Given the description of an element on the screen output the (x, y) to click on. 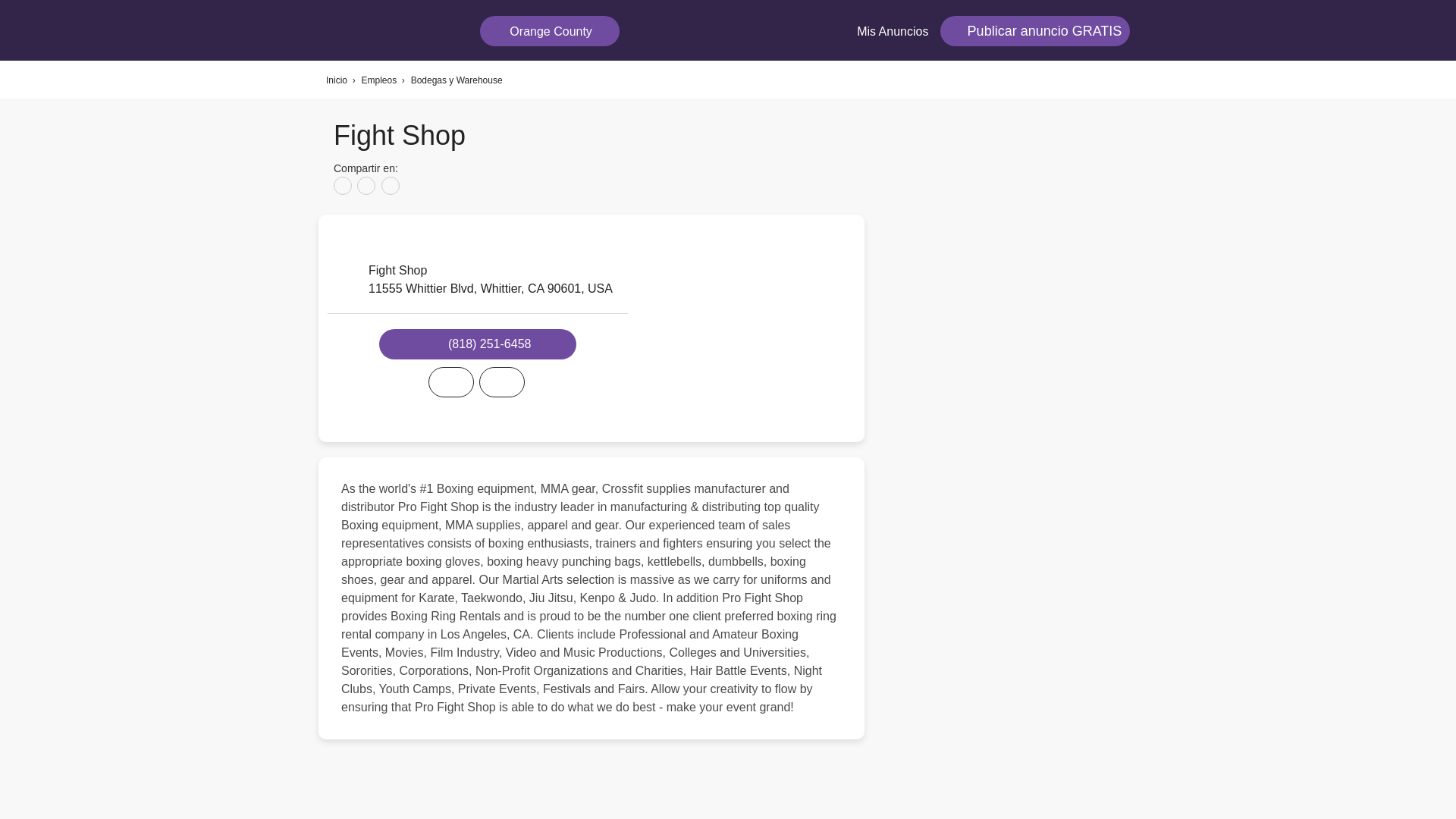
mapa de 11555 Whittier Blvd, Whittier, CA 90601, USA (750, 328)
Enviar a un amigo (389, 185)
Comparte este negocio Fight Shop en Facebook (342, 185)
Comparte este negocio Fight Shop en Twitter (365, 185)
Mandar mensaje de texto al anunciante (501, 381)
Publicar avisos y vender sus cosas (1034, 30)
